Given the description of an element on the screen output the (x, y) to click on. 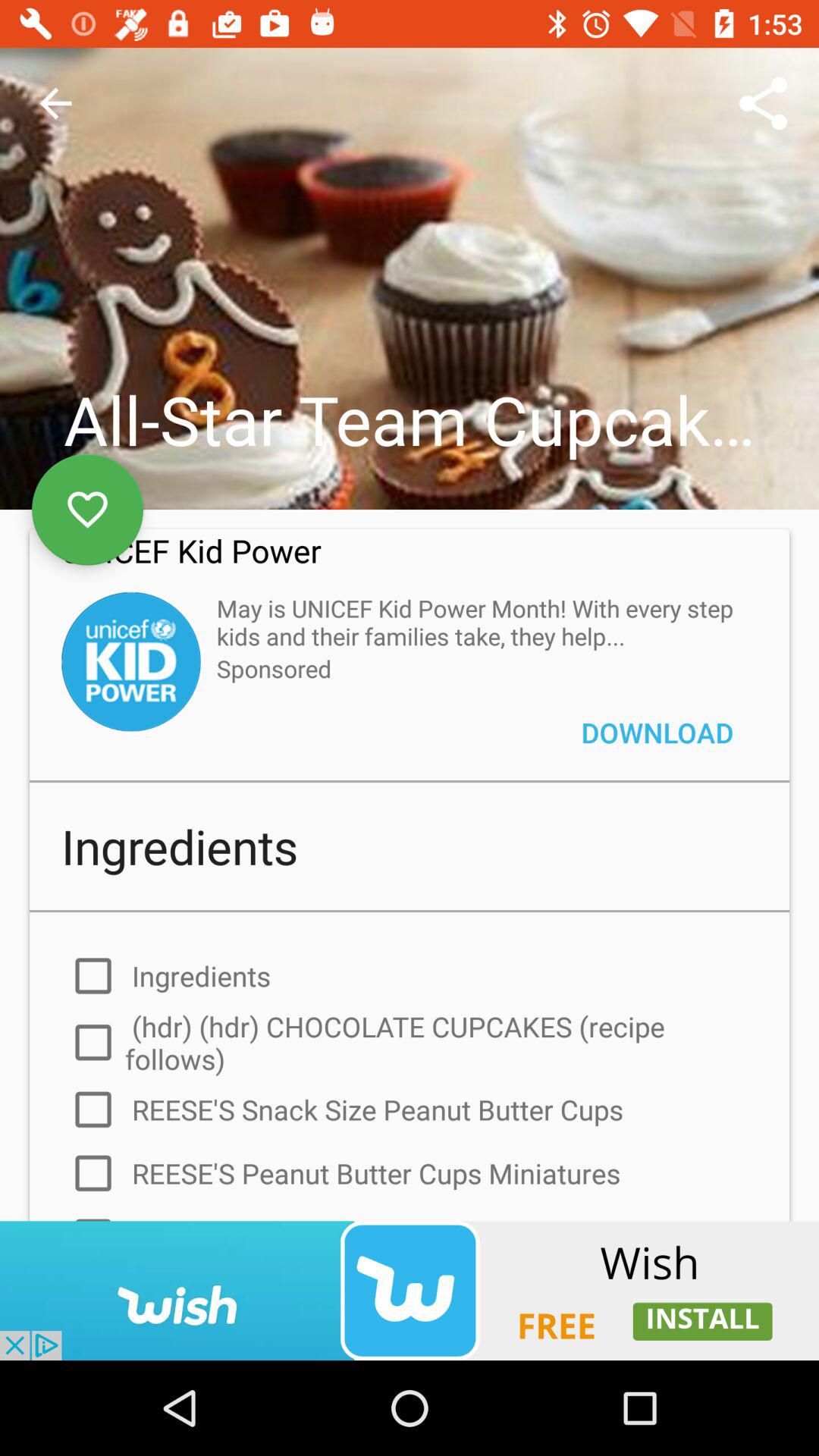
advertisement banner (409, 1290)
